Given the description of an element on the screen output the (x, y) to click on. 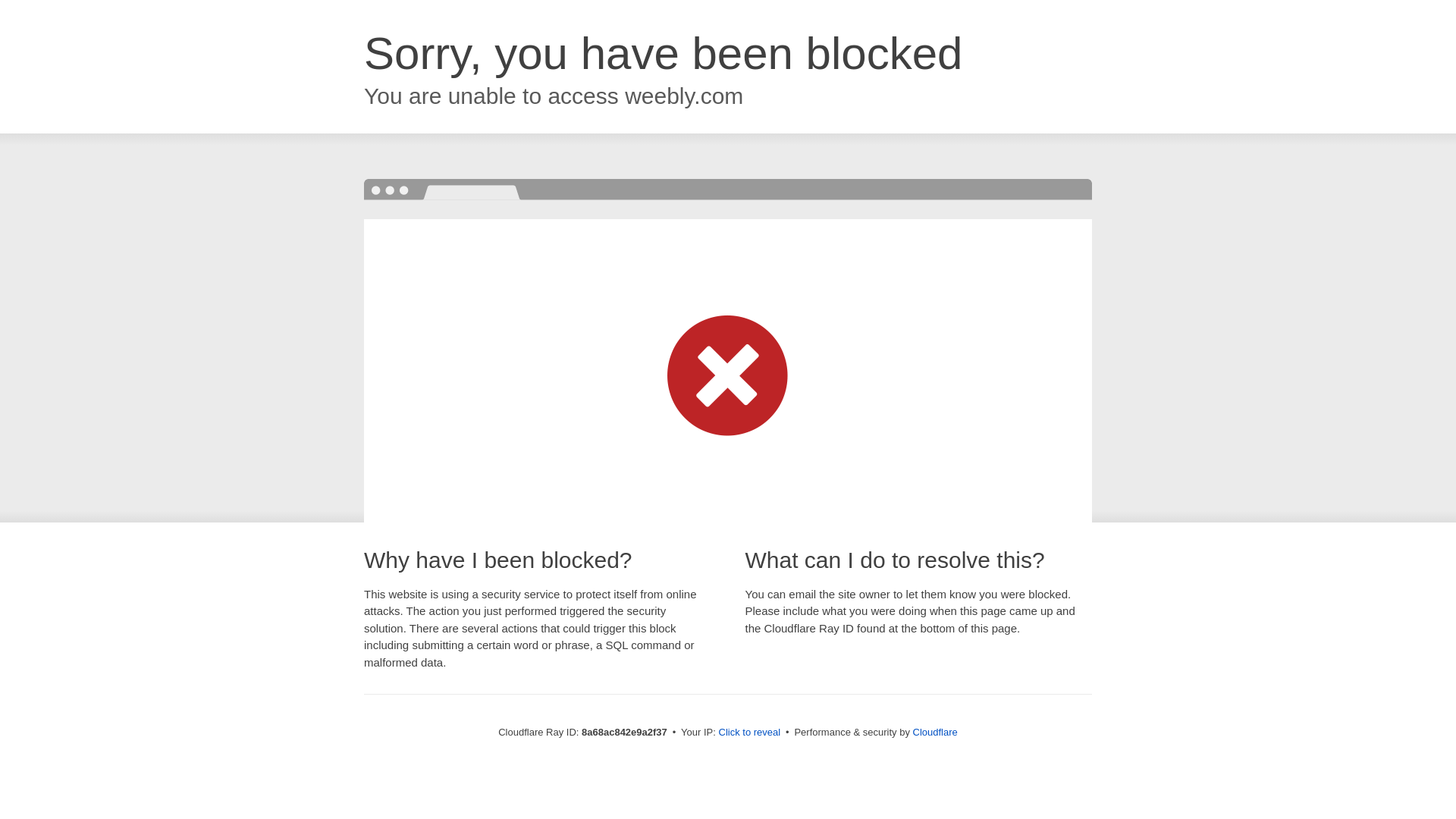
Cloudflare (935, 731)
Click to reveal (749, 732)
